Given the description of an element on the screen output the (x, y) to click on. 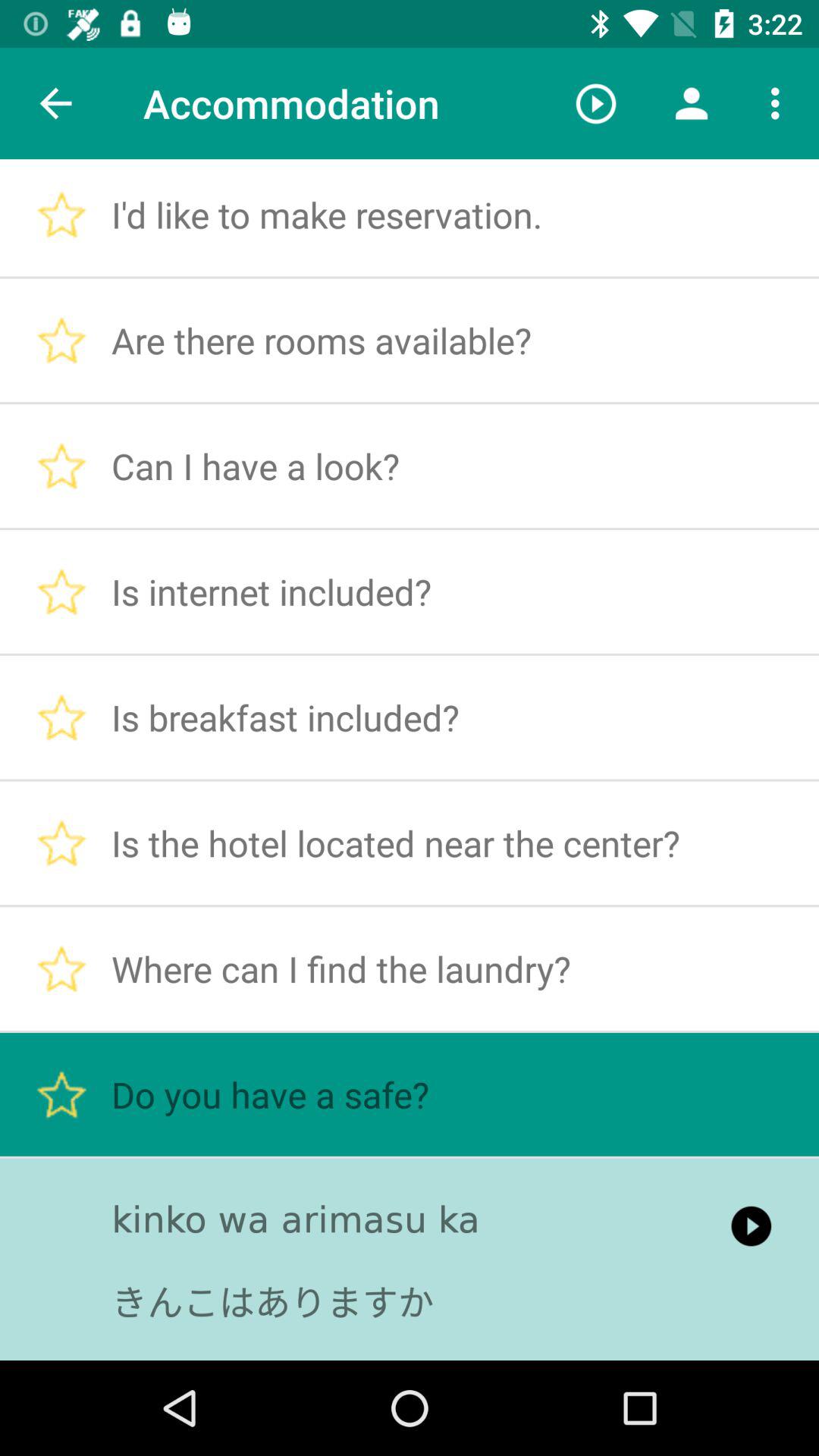
turn off icon above the is the hotel (691, 103)
